Given the description of an element on the screen output the (x, y) to click on. 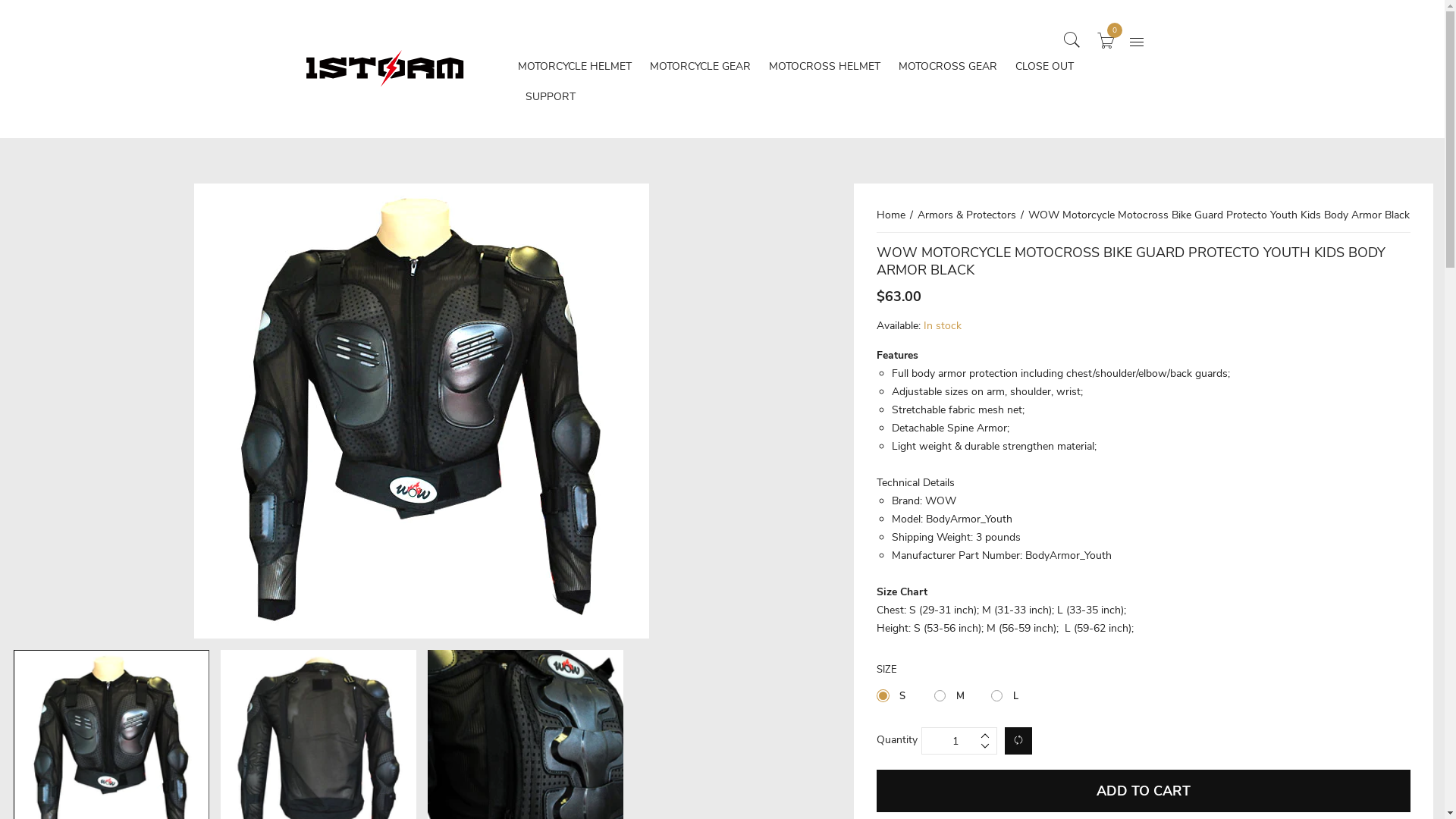
MOTOCROSS HELMET Element type: text (824, 66)
MOTOCROSS GEAR Element type: text (946, 66)
Home Element type: text (895, 214)
CLOSE OUT Element type: text (1043, 66)
ADD TO CART Element type: text (1143, 790)
SUPPORT Element type: text (549, 96)
Armors & Protectors Element type: text (971, 214)
0 Element type: text (1105, 38)
MOTORCYCLE GEAR Element type: text (699, 66)
MOTORCYCLE HELMET Element type: text (573, 66)
